Given the description of an element on the screen output the (x, y) to click on. 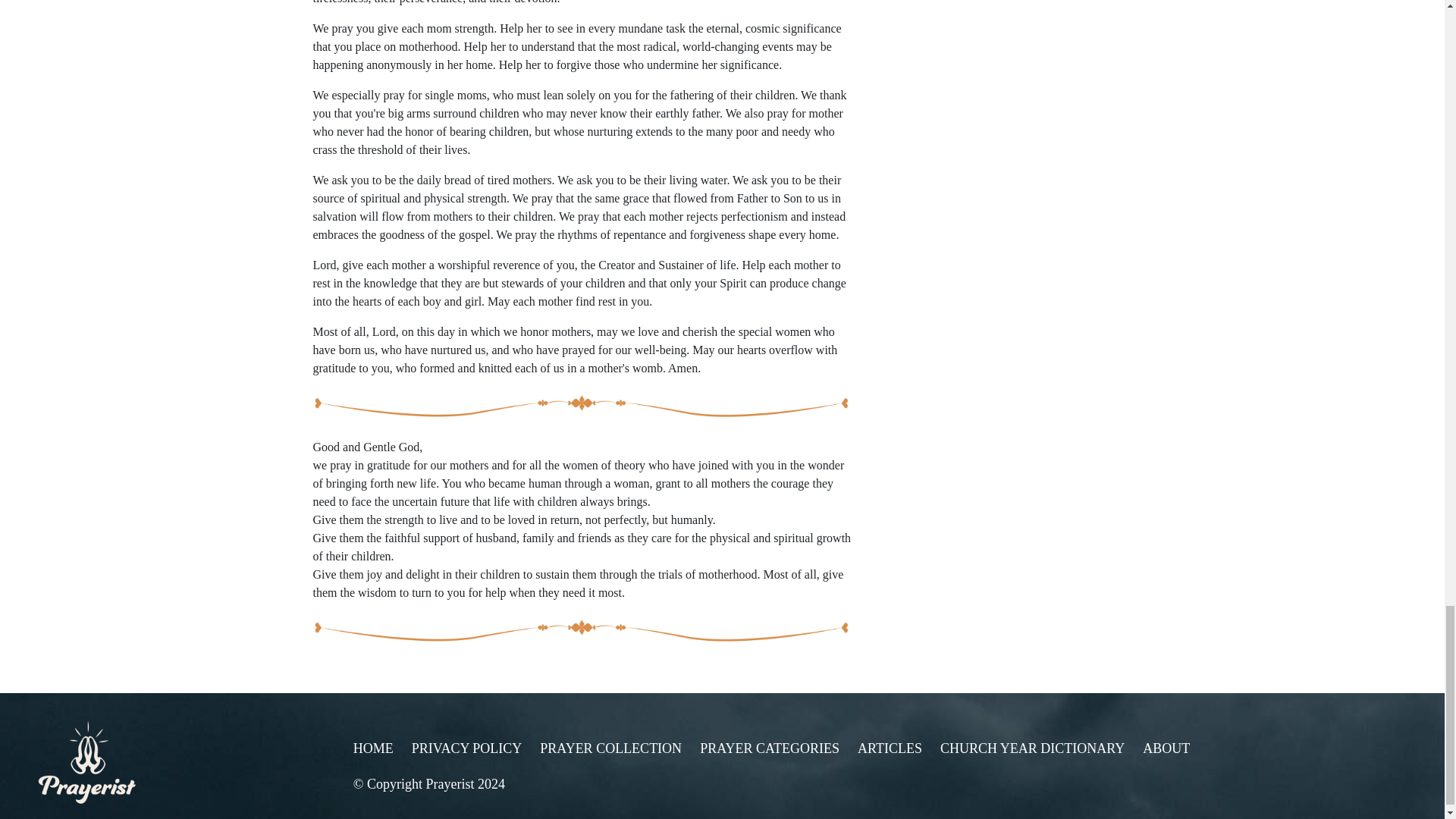
ABOUT (1165, 748)
PRAYER CATEGORIES (770, 748)
ARTICLES (889, 748)
PRAYER COLLECTION (610, 748)
HOME (373, 748)
CHURCH YEAR DICTIONARY (1032, 748)
PRIVACY POLICY (467, 748)
